Given the description of an element on the screen output the (x, y) to click on. 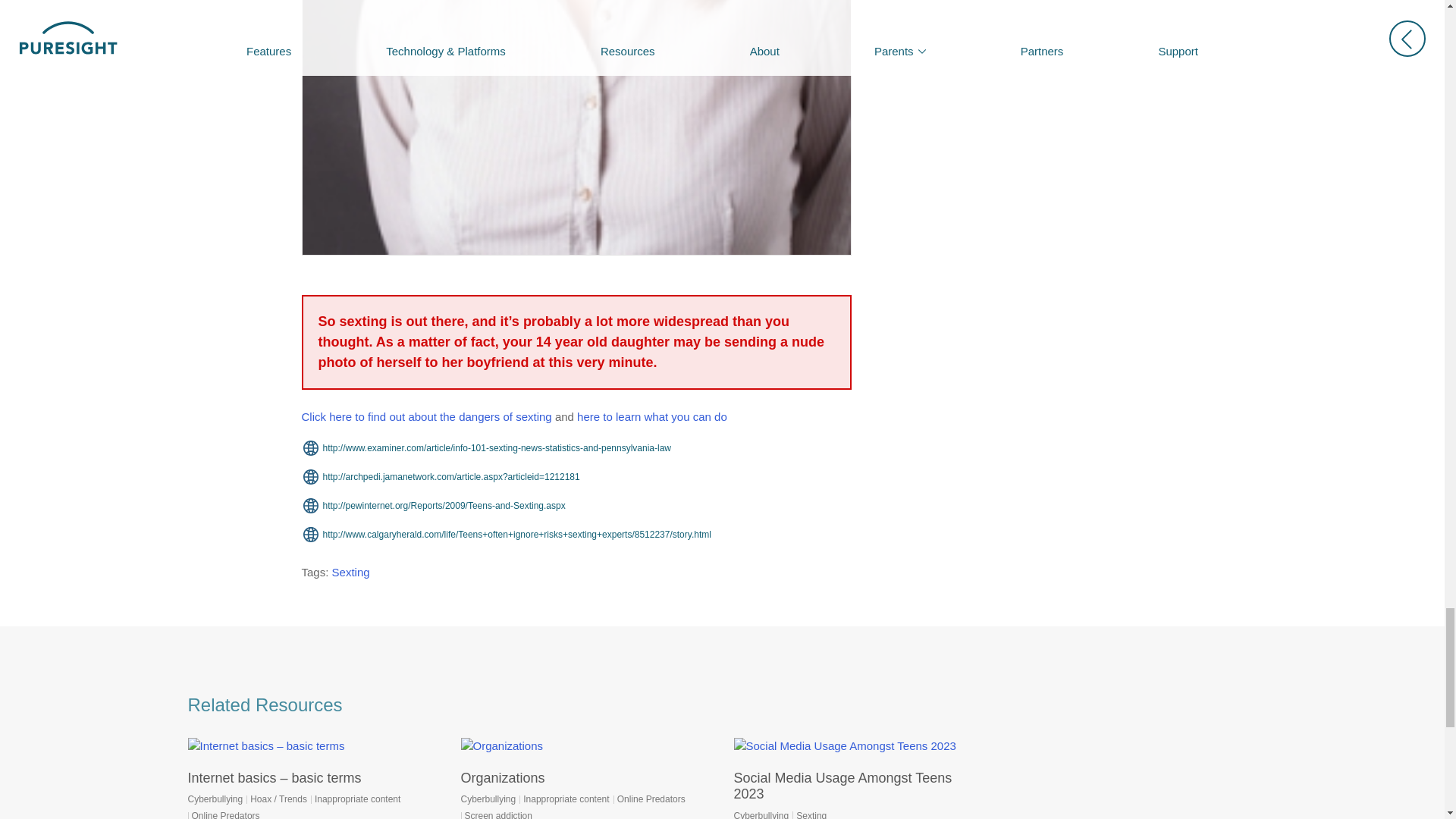
Social Media Usage Amongst Teens 2023 (842, 786)
here to learn what you can do (651, 416)
Organizations (502, 777)
Sexting (350, 571)
Click here to find out about the dangers of sexting (426, 416)
